Given the description of an element on the screen output the (x, y) to click on. 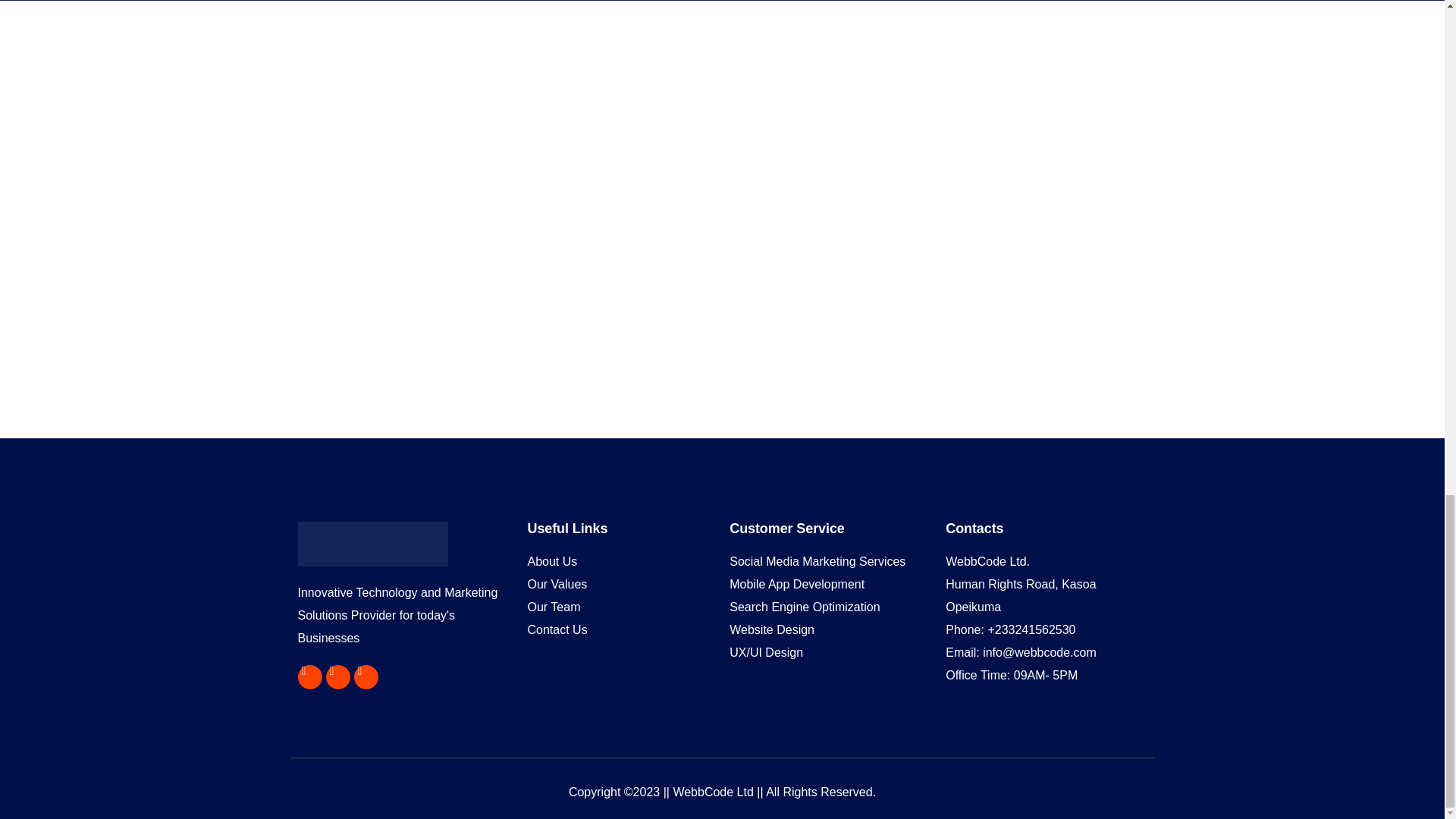
Hire Us (27, 693)
